Given the description of an element on the screen output the (x, y) to click on. 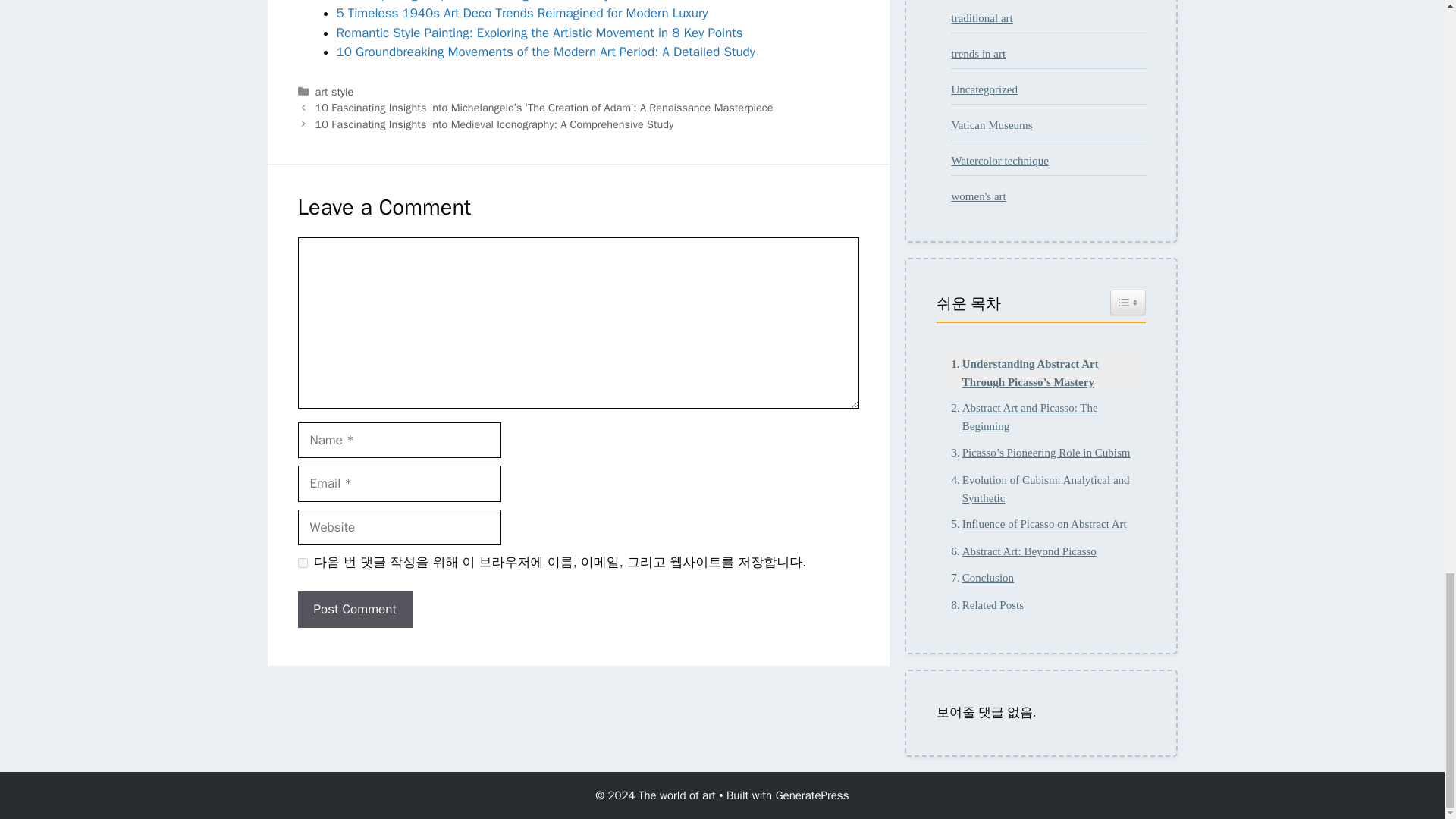
yes (302, 562)
Related Posts (983, 605)
Abstract Art and Picasso: The Beginning (1040, 416)
Influence of Picasso on Abstract Art (1034, 524)
art style (334, 91)
Evolution of Cubism: Analytical and Synthetic (1040, 488)
Post Comment (354, 609)
Post Comment (354, 609)
Abstract Art: Beyond Picasso (1019, 551)
Conclusion (978, 577)
